Given the description of an element on the screen output the (x, y) to click on. 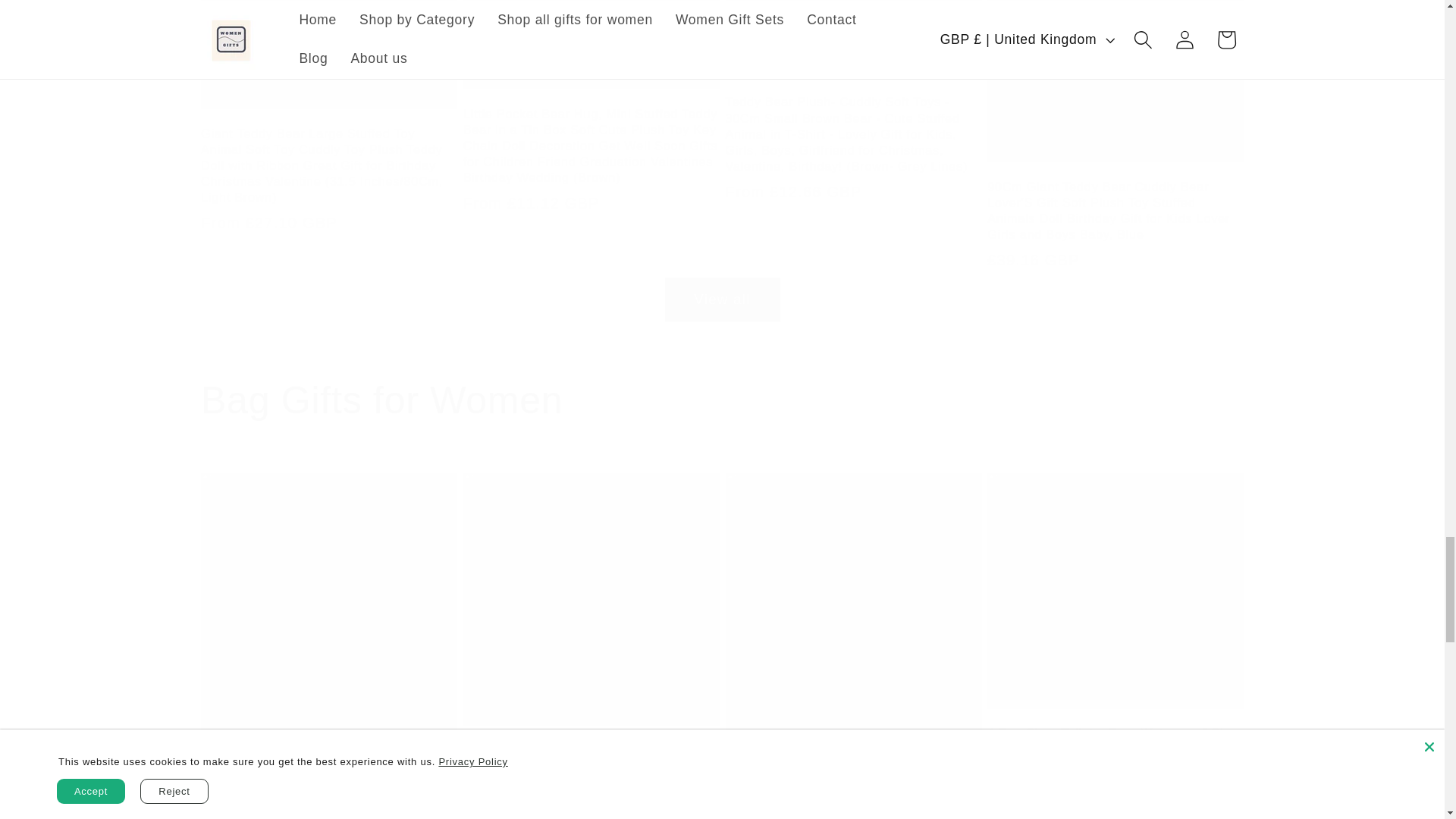
Bag Gifts for Women (721, 400)
